Given the description of an element on the screen output the (x, y) to click on. 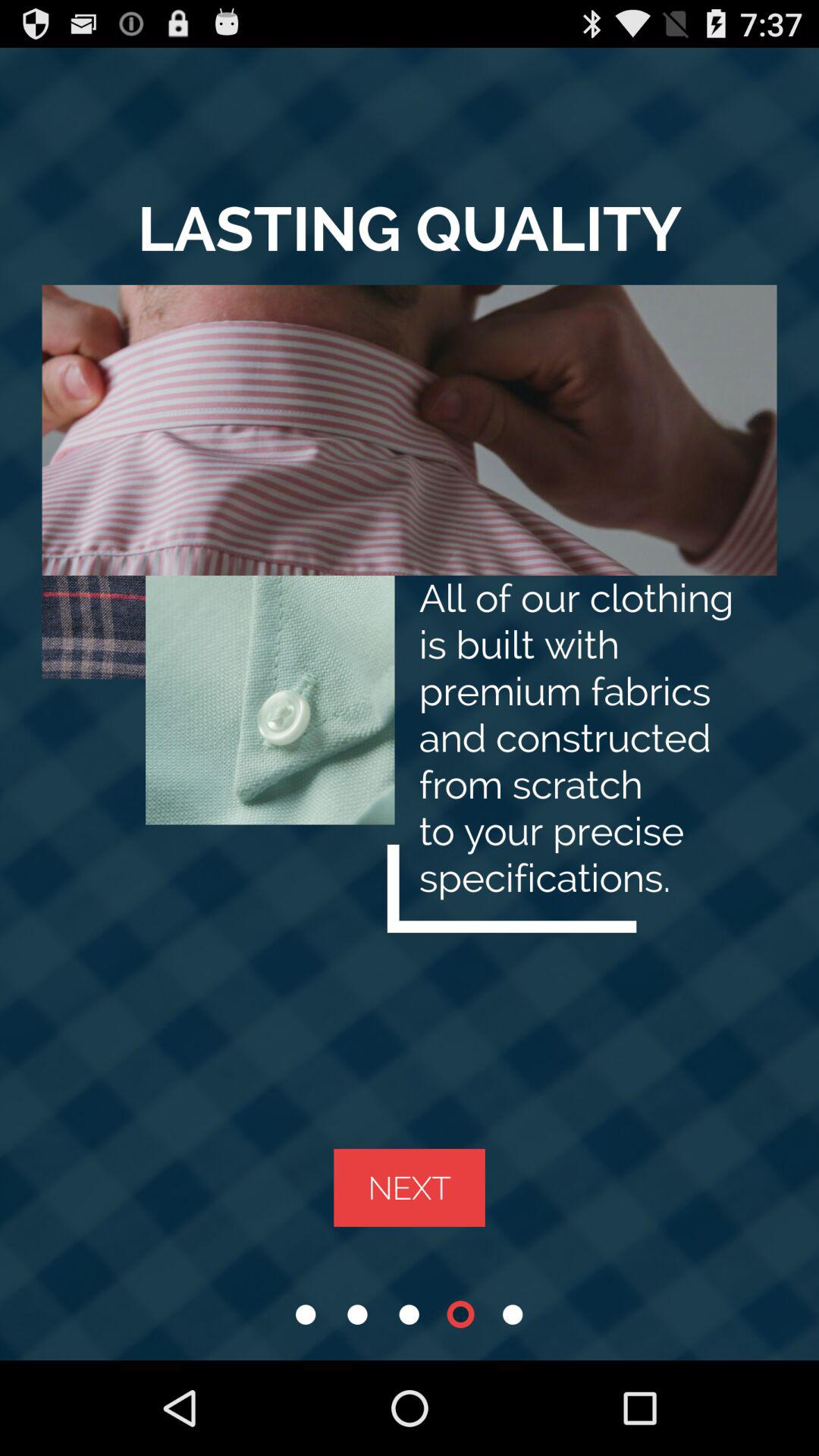
swipe to the next icon (409, 1187)
